Given the description of an element on the screen output the (x, y) to click on. 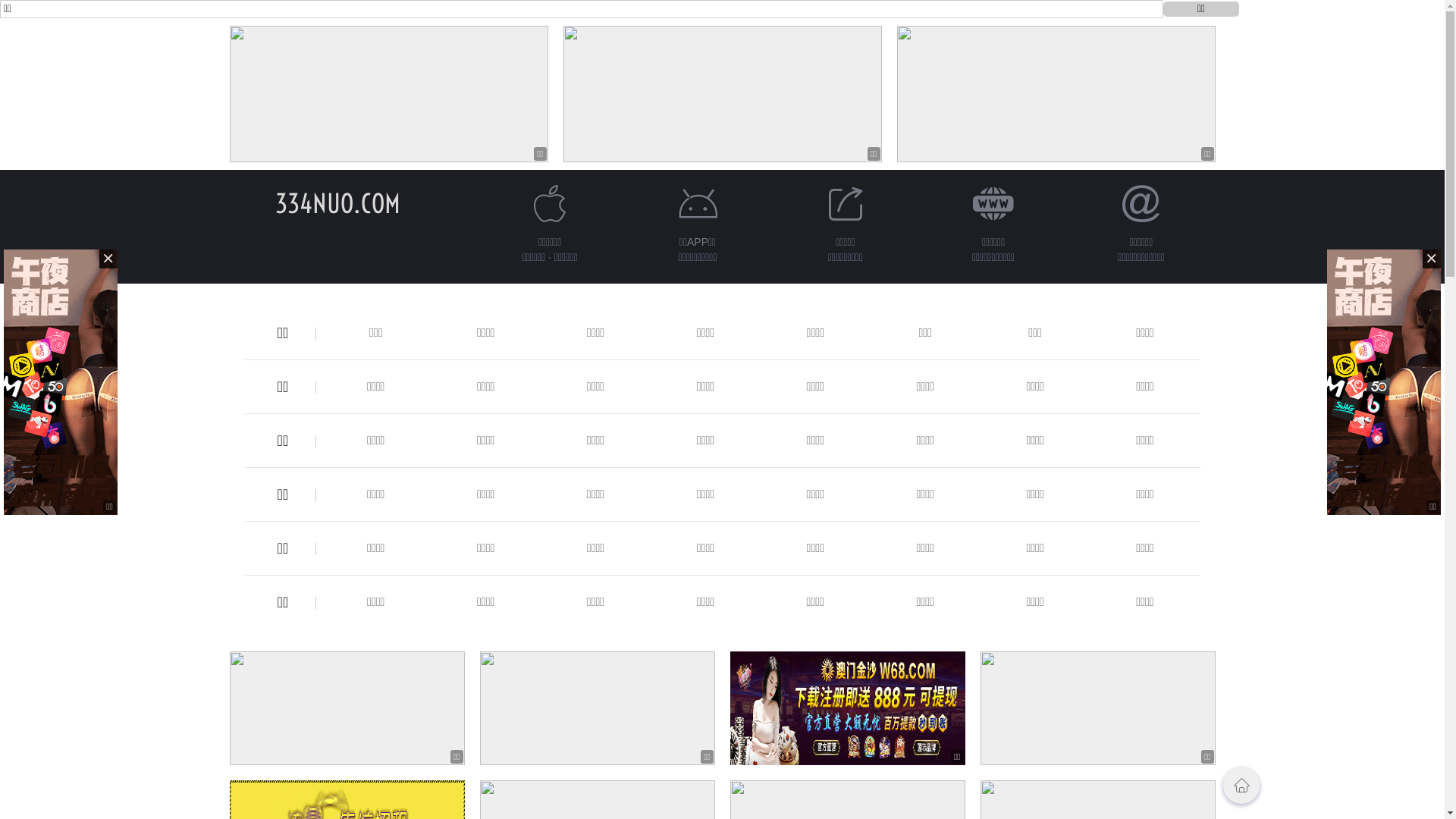
334NUO.COM Element type: text (337, 203)
